Given the description of an element on the screen output the (x, y) to click on. 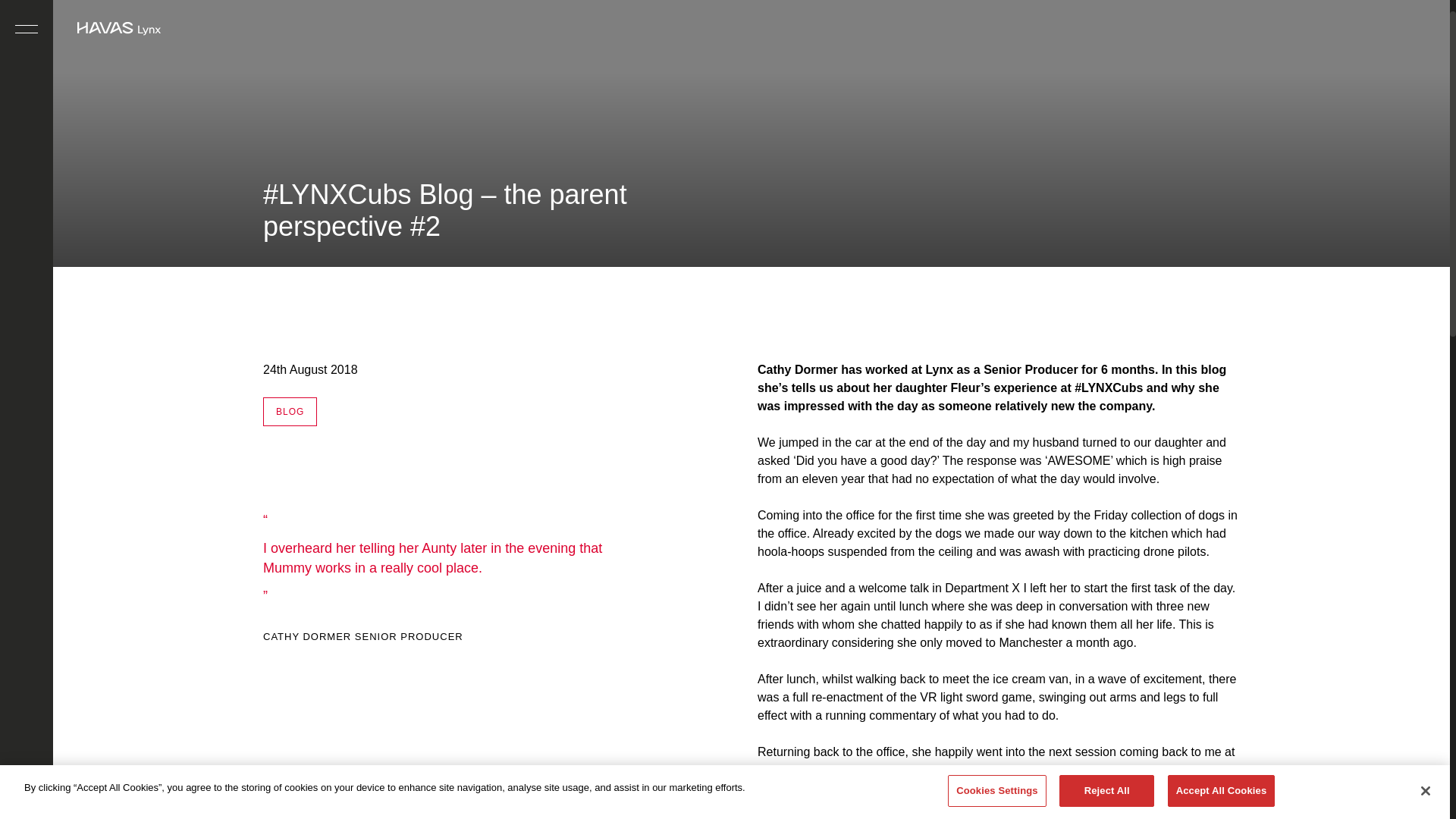
BLOG (290, 411)
Havas Lynx (118, 28)
